Given the description of an element on the screen output the (x, y) to click on. 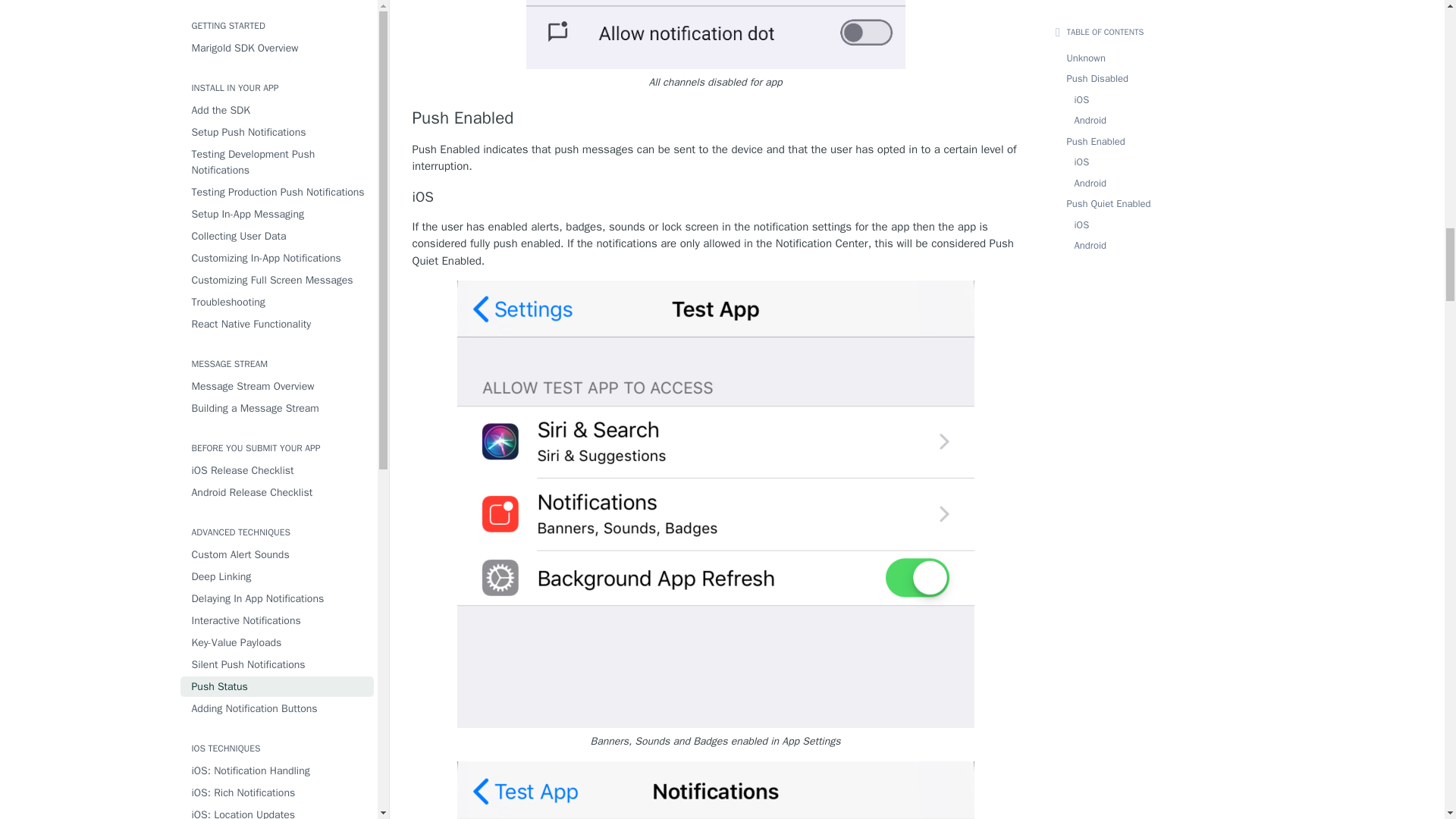
Push Enabled (715, 117)
iOS (715, 197)
Screen Shot 2019-01-08 at 10.43.43 AM.png (715, 790)
Screen Shot 2019-01-08 at 10.58.25 AM.png (715, 34)
